Given the description of an element on the screen output the (x, y) to click on. 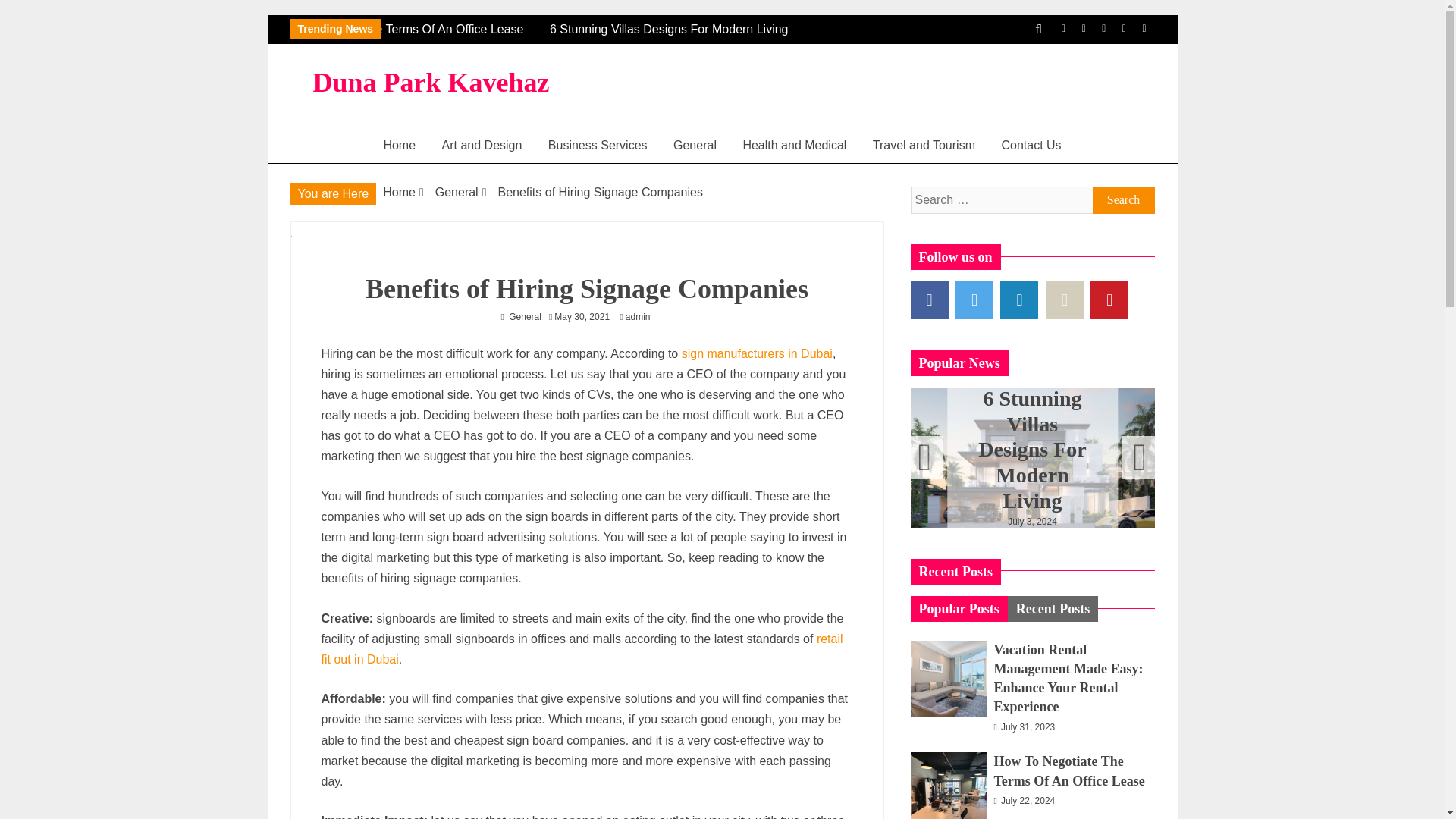
Twitter (1083, 28)
How To Negotiate The Terms Of An Office Lease (409, 29)
sign manufacturers in Dubai (756, 353)
Travel and Tourism (924, 144)
Art and Design (482, 144)
General (695, 144)
General (457, 192)
How To Negotiate The Terms Of An Office Lease (420, 29)
Instagram (1124, 28)
